Given the description of an element on the screen output the (x, y) to click on. 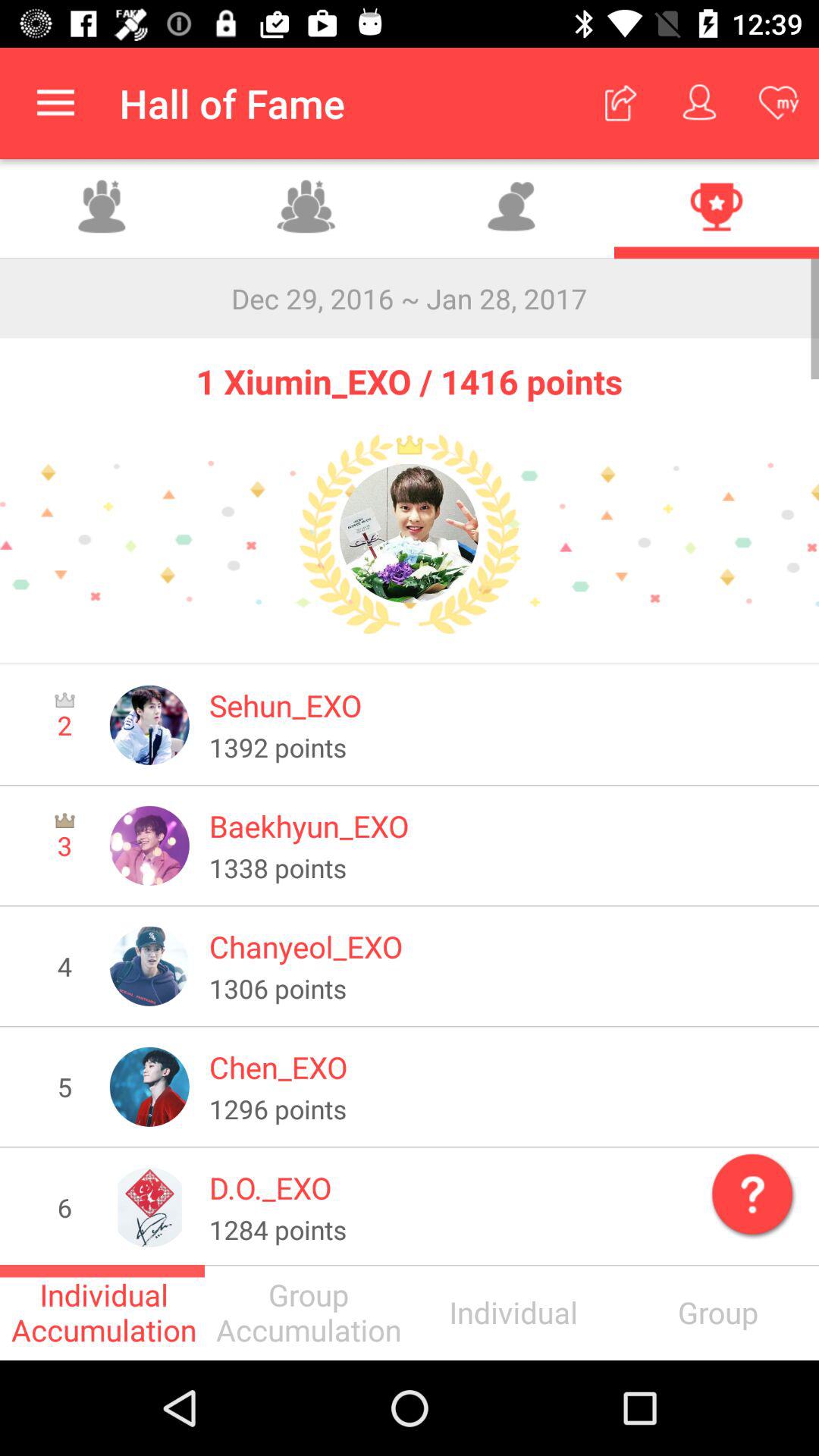
tap the icon below 1 xiumin_exo 1416 icon (408, 533)
